Given the description of an element on the screen output the (x, y) to click on. 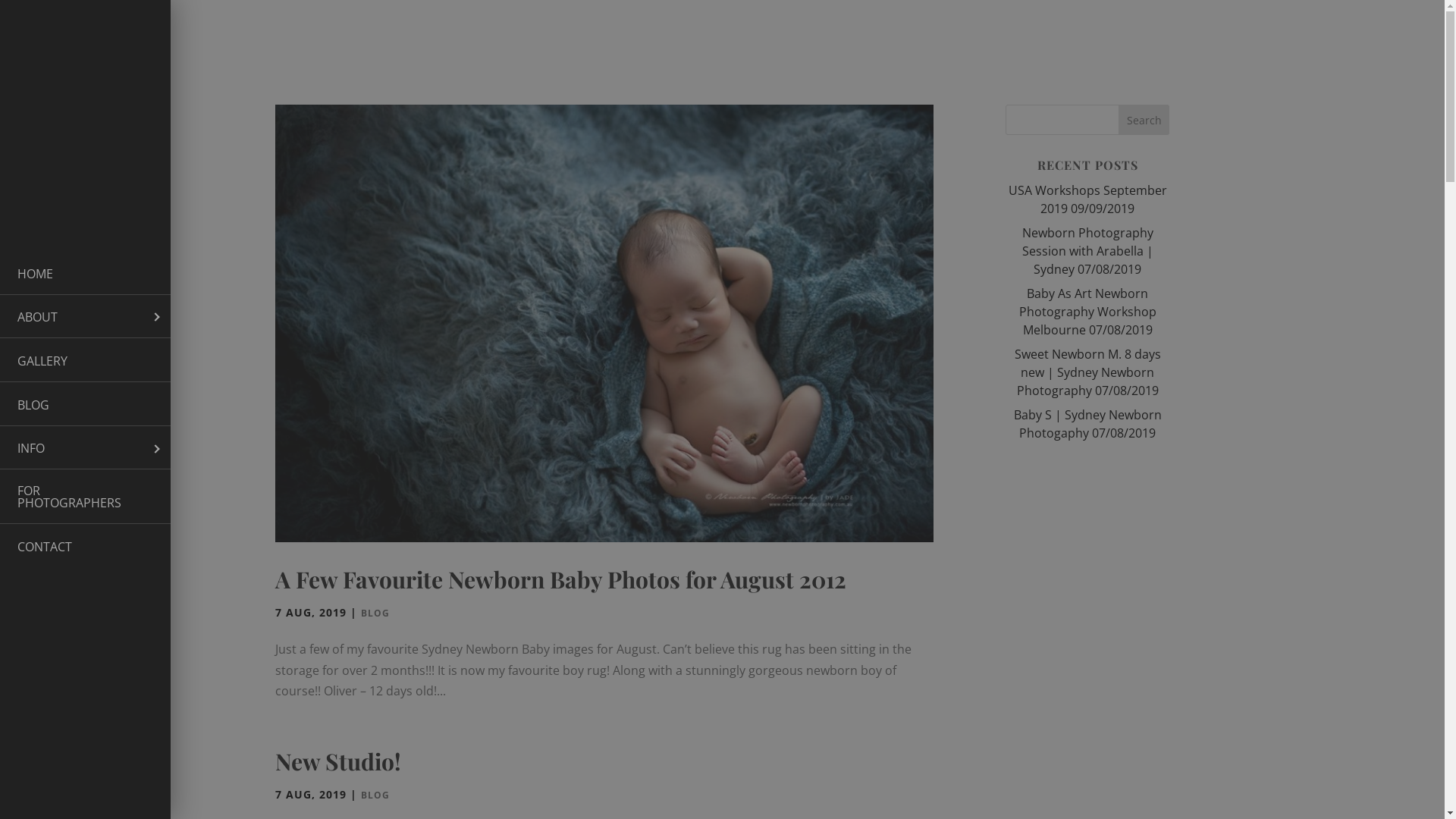
Search Element type: text (1144, 119)
ABOUT Element type: text (85, 316)
A Few Favourite Newborn Baby Photos for August 2012 Element type: text (559, 579)
CONTACT Element type: text (85, 545)
Newborn Photography Session with Arabella | Sydney Element type: text (1087, 250)
BLOG Element type: text (85, 404)
HOME Element type: text (85, 272)
Baby S | Sydney Newborn Photogaphy Element type: text (1087, 423)
Sweet Newborn M. 8 days new | Sydney Newborn Photography Element type: text (1087, 371)
Baby As Art Newborn Photography Workshop Melbourne Element type: text (1087, 311)
GALLERY Element type: text (85, 360)
New Studio! Element type: text (337, 761)
FOR PHOTOGRAPHERS Element type: text (85, 496)
INFO Element type: text (85, 448)
USA Workshops September 2019 Element type: text (1087, 199)
BLOG Element type: text (374, 612)
BLOG Element type: text (374, 794)
